Given the description of an element on the screen output the (x, y) to click on. 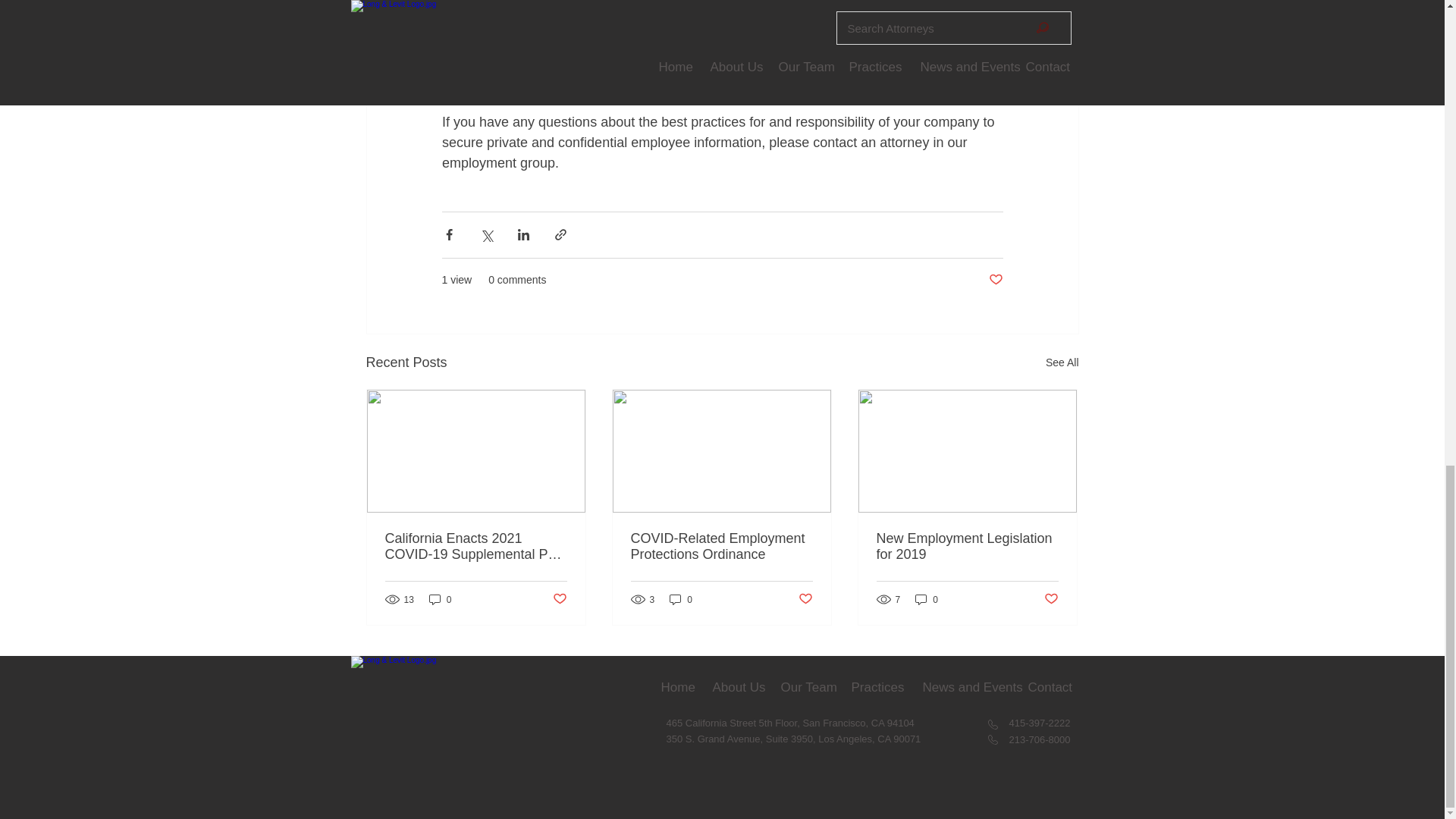
Post not marked as liked (804, 599)
0 (681, 599)
New Employment Legislation for 2019 (967, 546)
Post not marked as liked (1050, 599)
Post not marked as liked (995, 279)
0 (926, 599)
COVID-Related Employment Protections Ordinance (721, 546)
See All (1061, 362)
0 (440, 599)
